Given the description of an element on the screen output the (x, y) to click on. 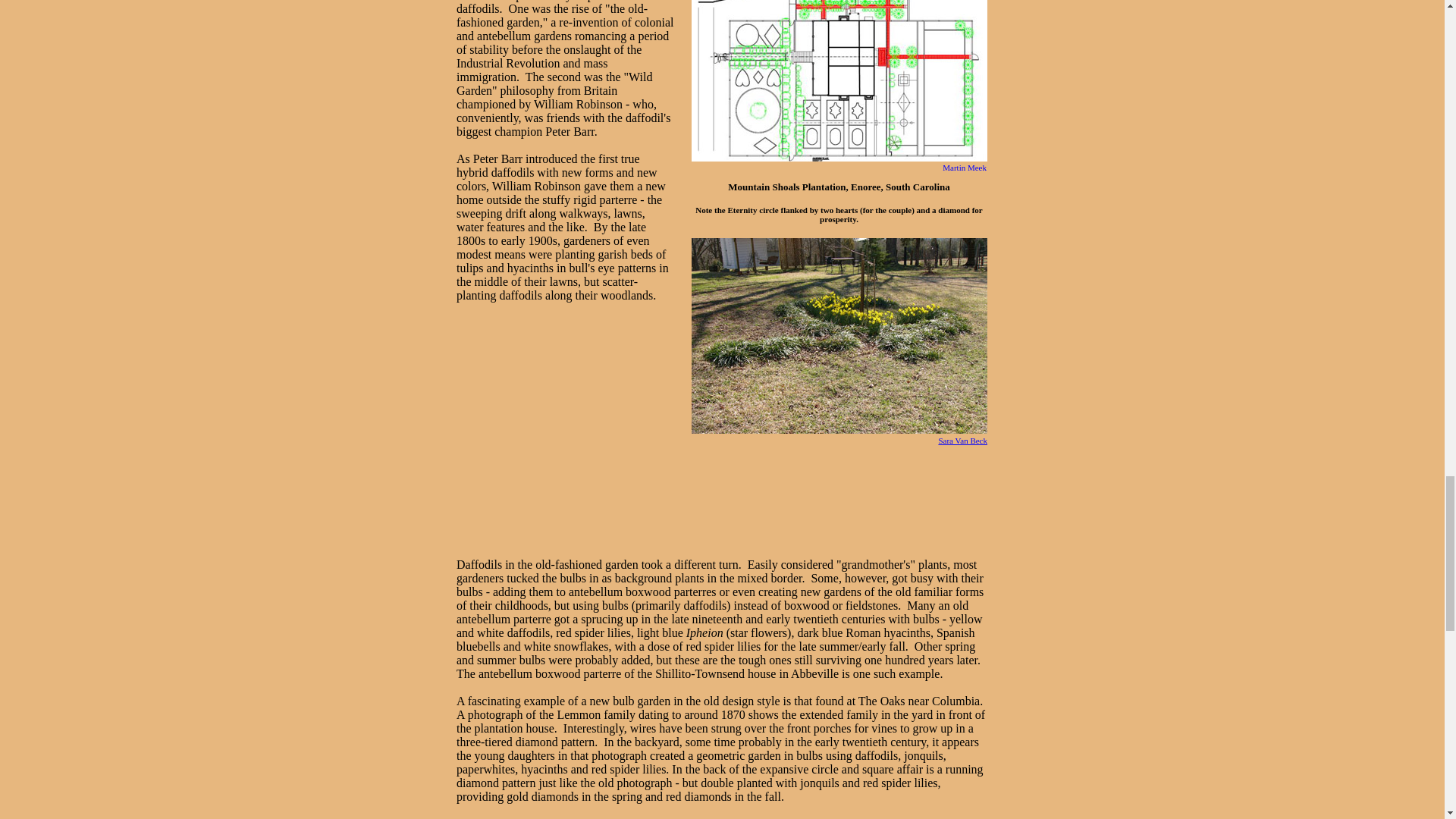
Sara Van Beck (962, 440)
